Given the description of an element on the screen output the (x, y) to click on. 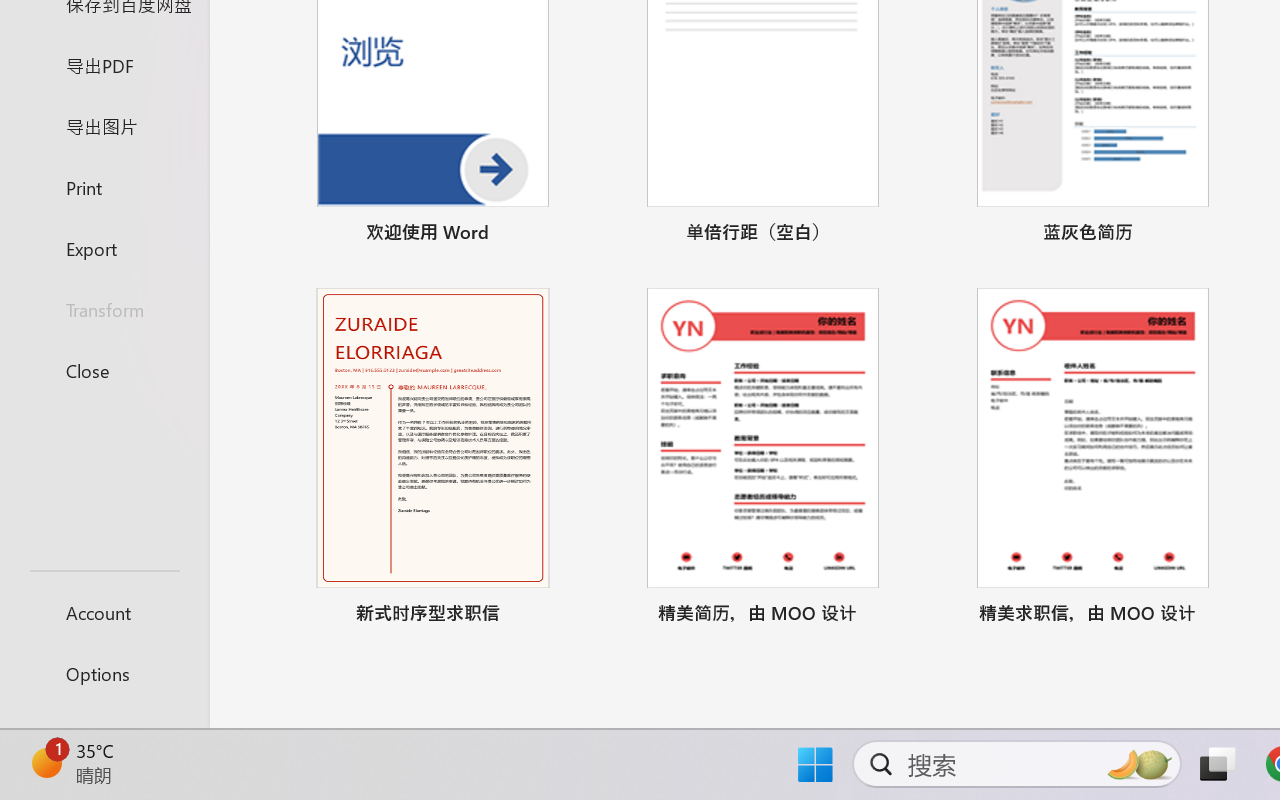
Export (104, 248)
